Given the description of an element on the screen output the (x, y) to click on. 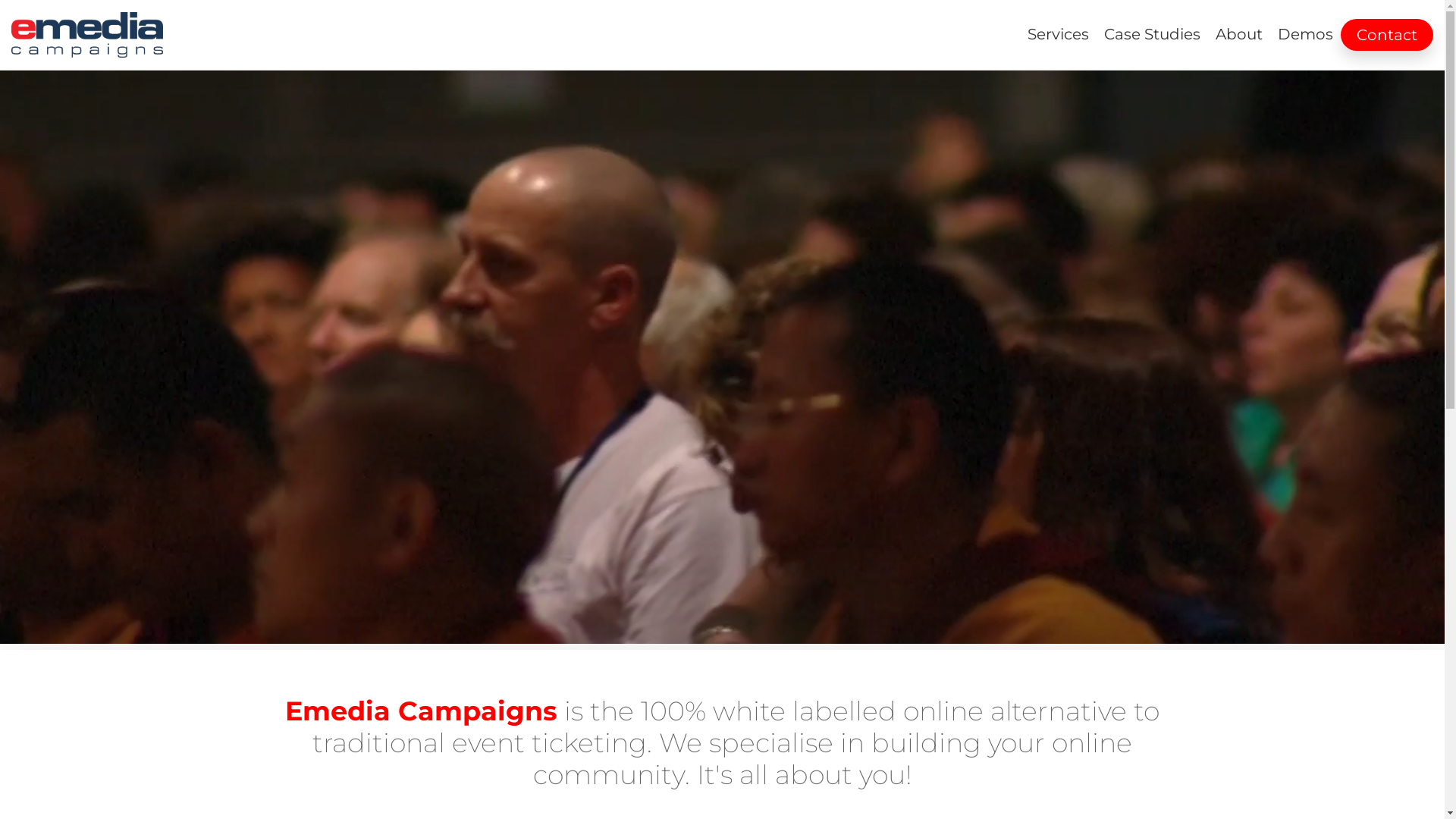
Case Studies Element type: text (1152, 33)
Services Element type: text (1057, 33)
Contact Element type: text (1386, 34)
Demos Element type: text (1305, 33)
About Element type: text (1239, 33)
